Given the description of an element on the screen output the (x, y) to click on. 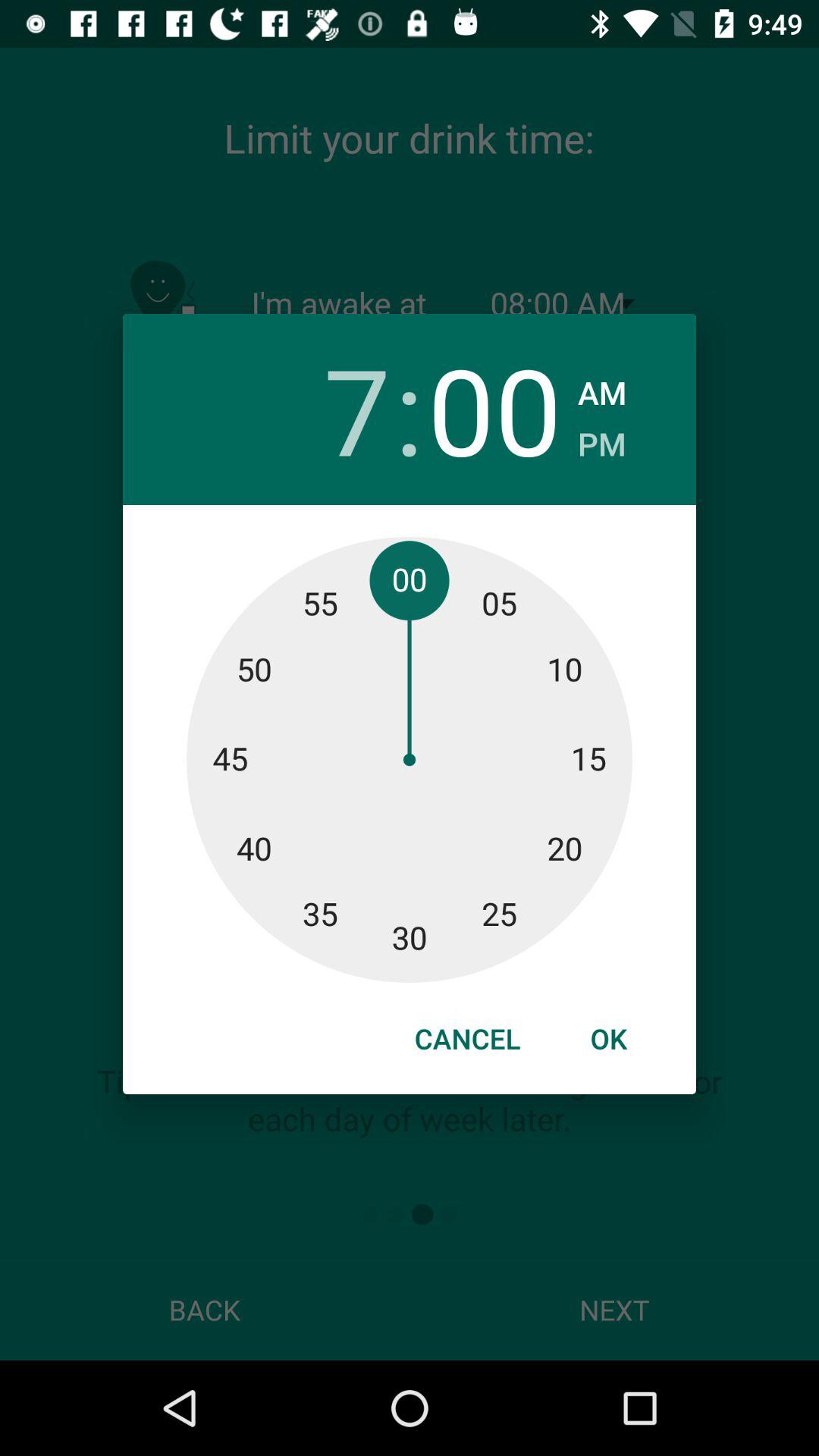
jump until the pm checkbox (601, 439)
